Given the description of an element on the screen output the (x, y) to click on. 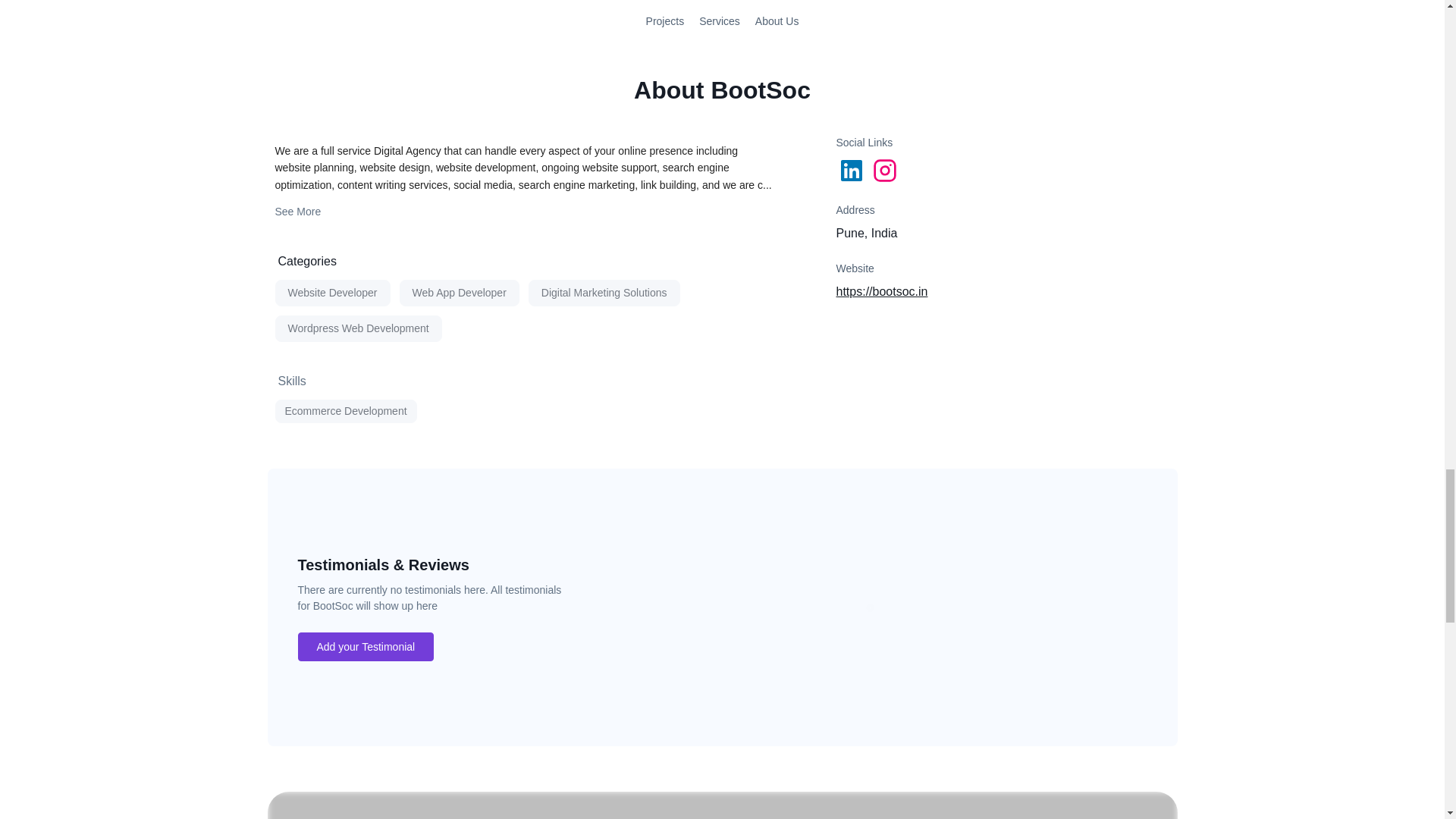
See More (297, 210)
Digital Marketing Solutions (603, 293)
Web App Developer (458, 293)
Reviews (869, 606)
 instagram (885, 169)
Hire top Web App Developer (458, 293)
Hire freelance Wordpress Web Development (358, 328)
Hire Digital Marketing Solutions (603, 293)
Add your Testimonial (365, 646)
Wordpress Web Development (358, 328)
 linkedin (852, 169)
Top freelance Website Developer (332, 293)
Website Developer (332, 293)
